Given the description of an element on the screen output the (x, y) to click on. 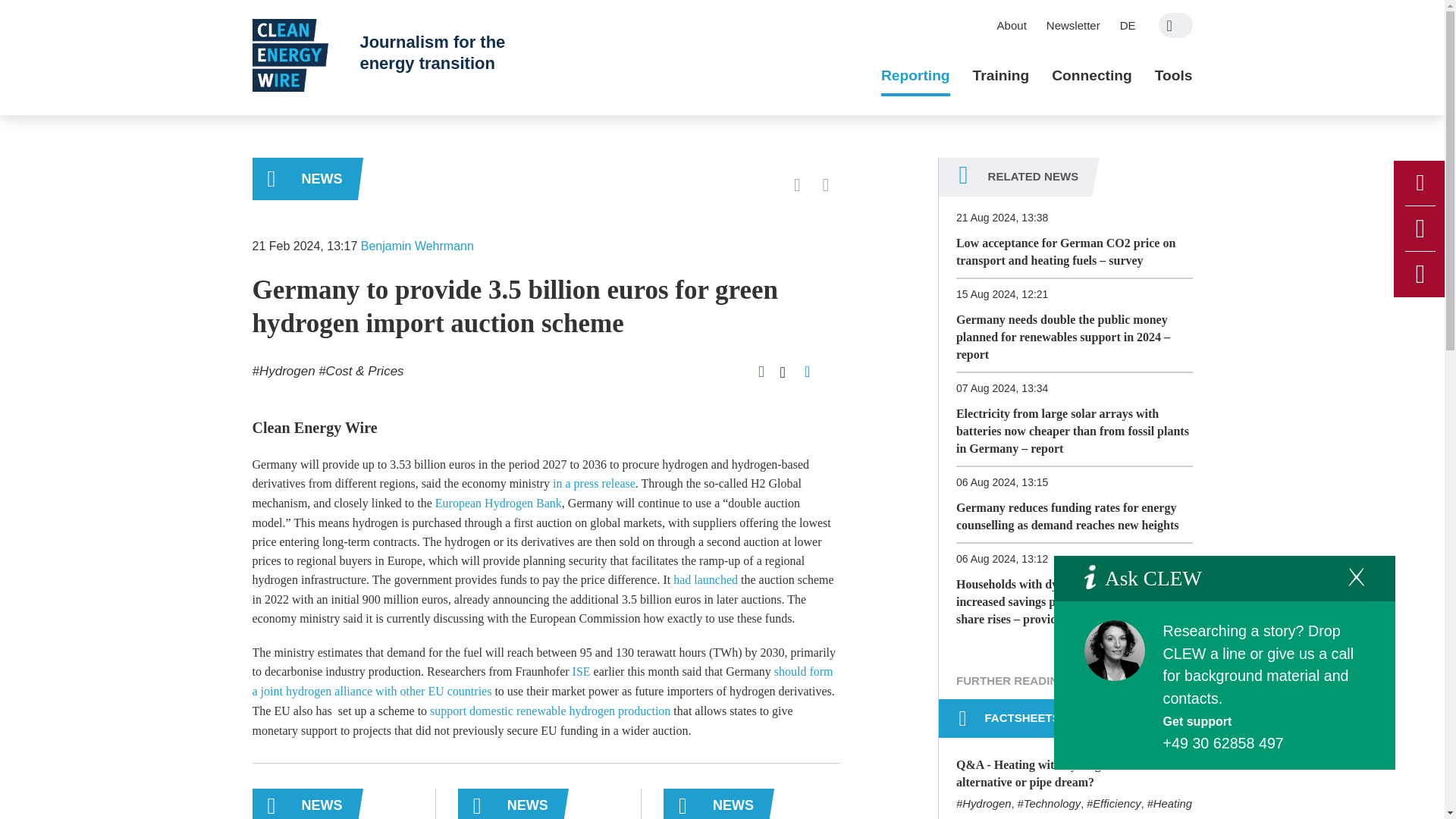
Connecting (1091, 75)
Tools (1173, 75)
Hydrogen (282, 370)
Training (1000, 75)
DE (1127, 25)
in a press release (593, 482)
Search (1175, 25)
Newsletter (1072, 25)
NEWS (303, 178)
Benjamin Wehrmann (417, 245)
